Given the description of an element on the screen output the (x, y) to click on. 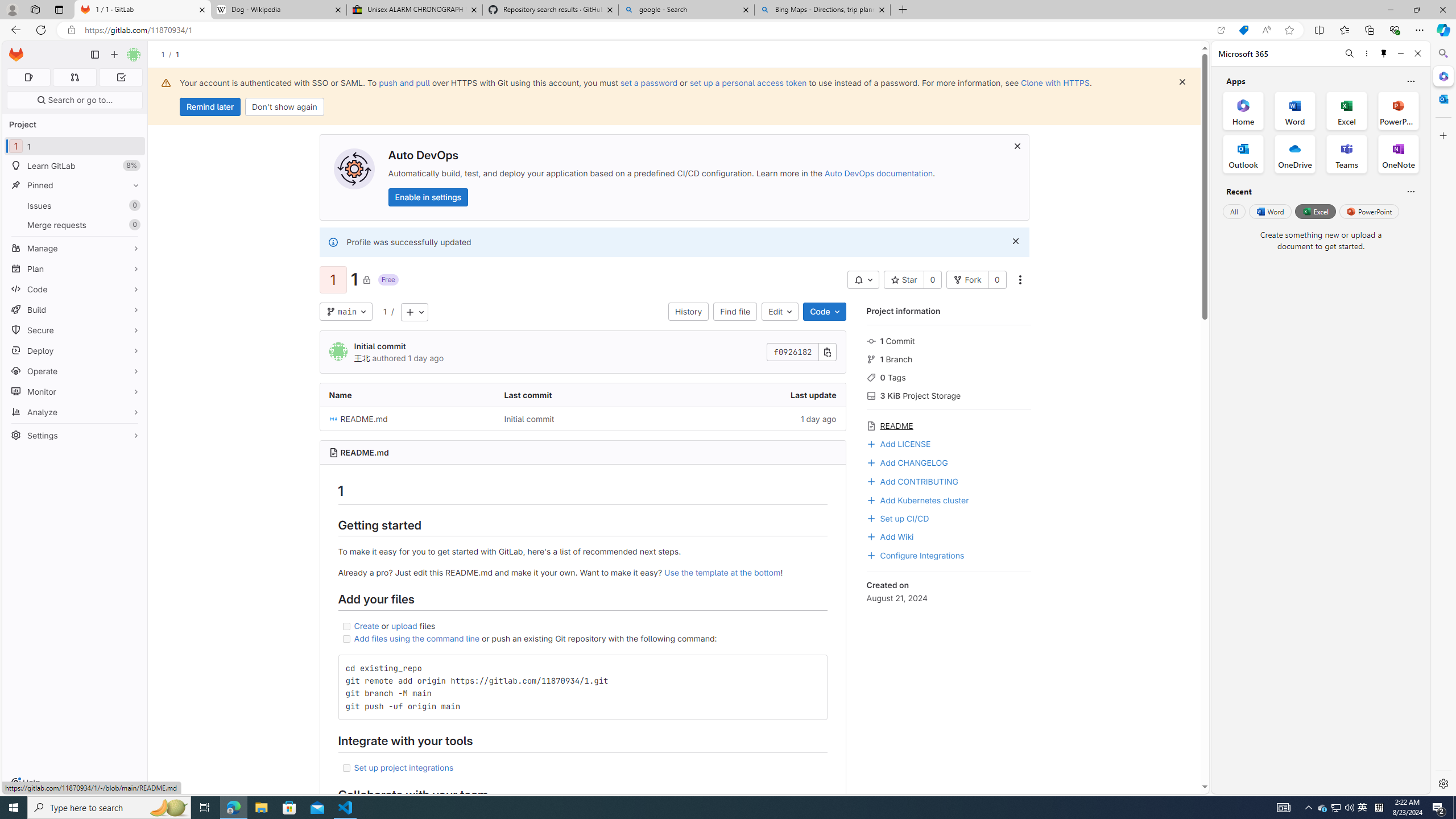
Find file (735, 311)
Primary navigation sidebar (94, 54)
1 (384, 311)
AutomationID: __BVID__498__BV_toggle_ (863, 280)
Class: s16 icon gl-mr-3 gl-text-gray-500 (871, 425)
Enable in settings (427, 197)
Is this helpful? (1410, 191)
1 Branch (948, 358)
